Given the description of an element on the screen output the (x, y) to click on. 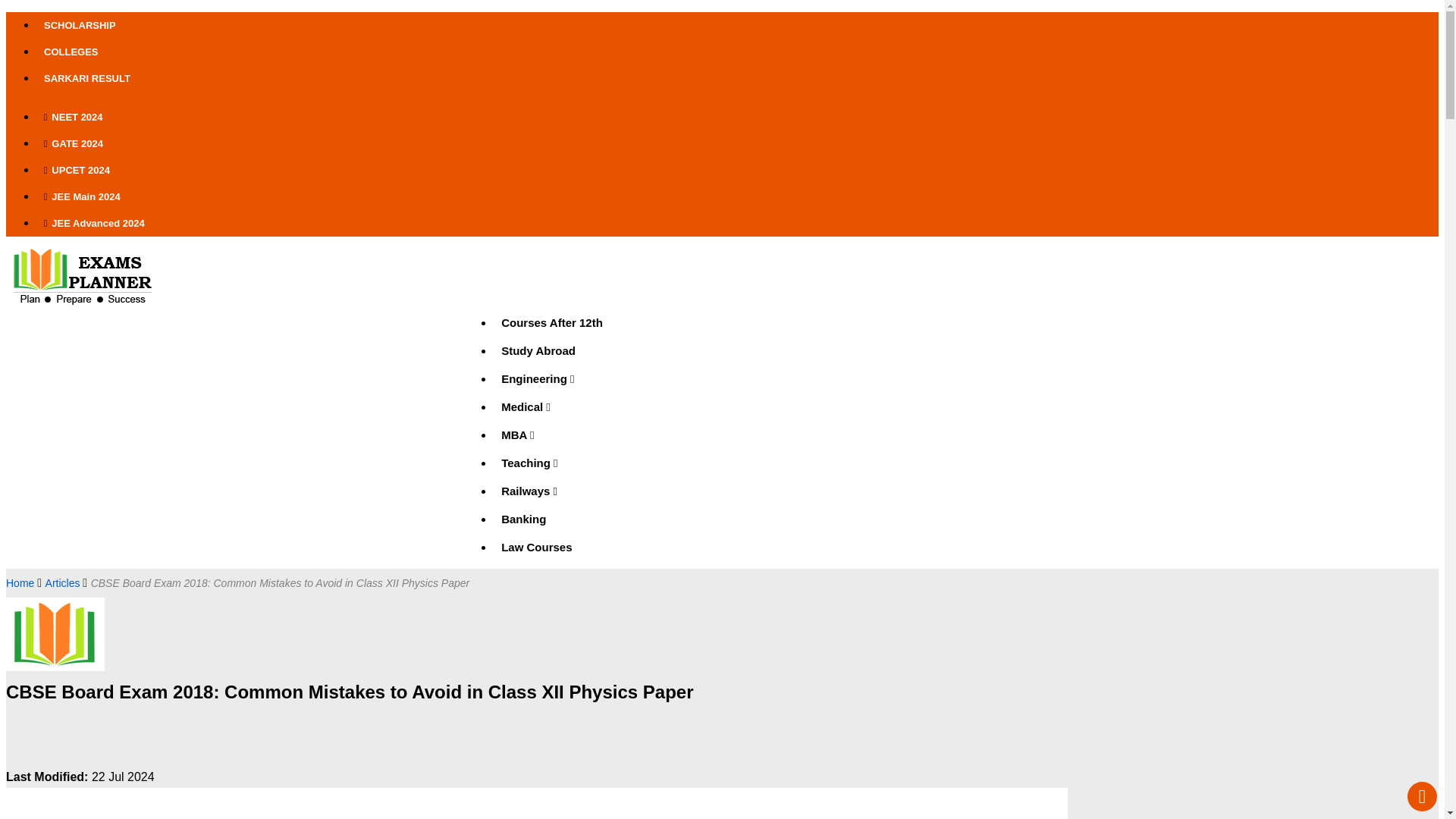
SCHOLARSHIP (551, 25)
Advertisement (118, 736)
Study Abroad (551, 350)
NEET 2024 (551, 117)
Teaching (551, 462)
MBA (551, 434)
Railways (551, 490)
GATE 2024 (551, 143)
JEE Main 2024 (551, 196)
Medical (551, 406)
UPCET 2024 (551, 170)
JEE Advanced 2024 (551, 222)
Engineering (551, 378)
COLLEGES (551, 51)
SARKARI RESULT (551, 78)
